Given the description of an element on the screen output the (x, y) to click on. 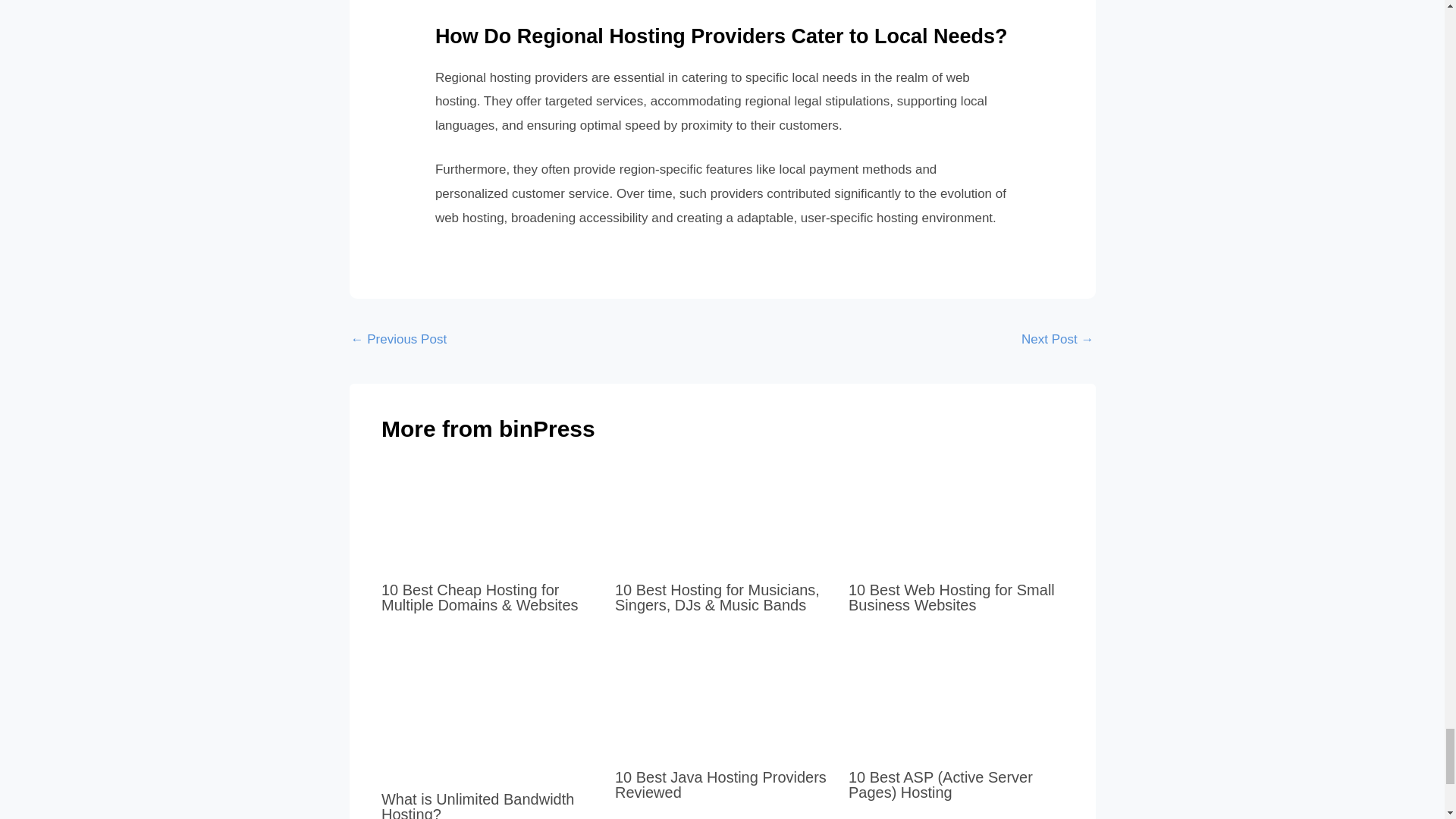
How to Choose the Right Web Host? (1057, 340)
10 Best Web Hosting for Small Business Websites (951, 597)
What is Unlimited Bandwidth Hosting? (477, 805)
10 Best Java Hosting Providers Reviewed (720, 784)
How Web Hosting Works? (398, 340)
